Given the description of an element on the screen output the (x, y) to click on. 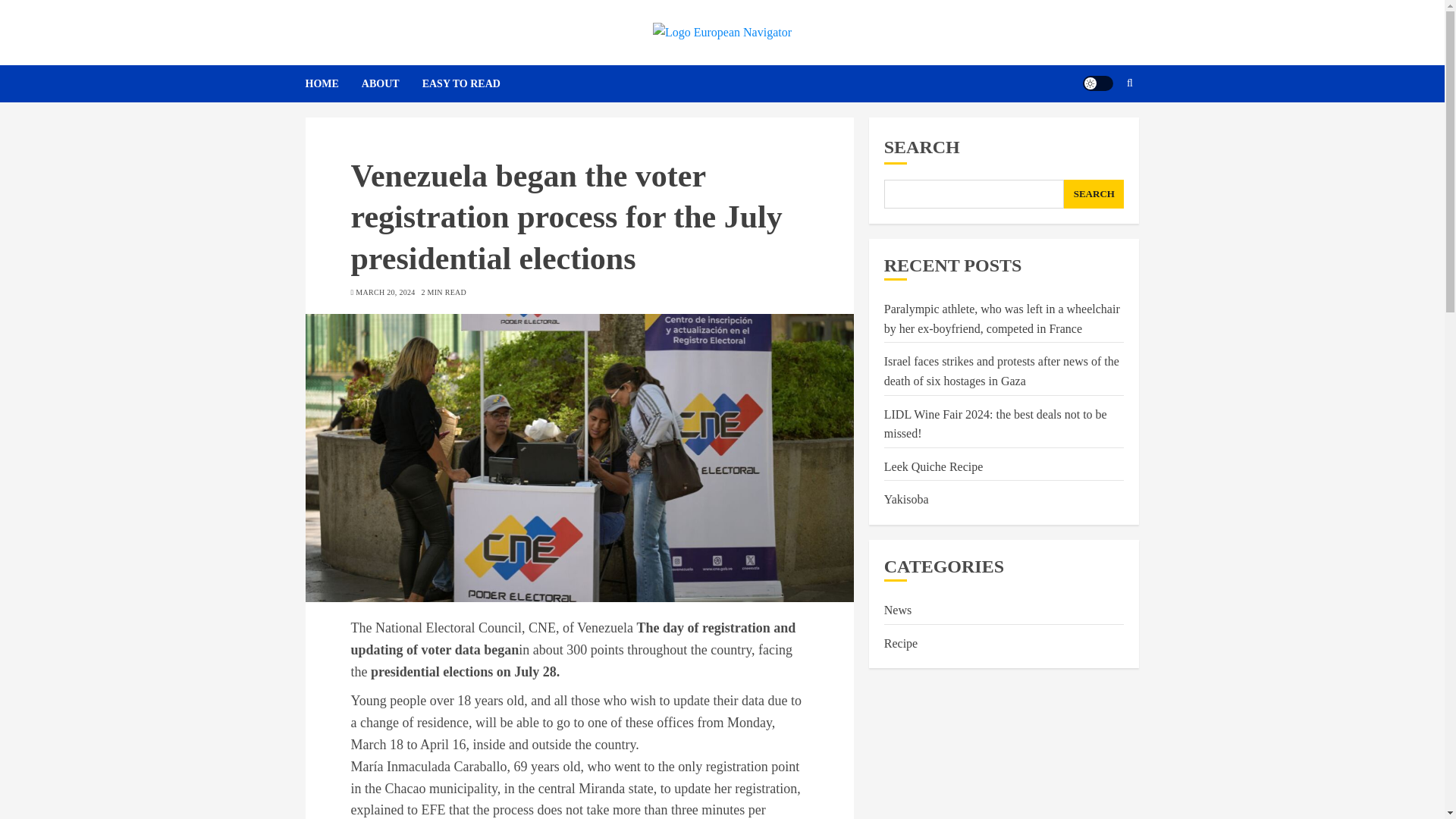
LIDL Wine Fair 2024: the best deals not to be missed! (994, 424)
News (897, 610)
Leek Quiche Recipe (933, 467)
SEARCH (1094, 193)
Search (1099, 129)
ABOUT (391, 83)
HOME (332, 83)
MARCH 20, 2024 (384, 292)
